Given the description of an element on the screen output the (x, y) to click on. 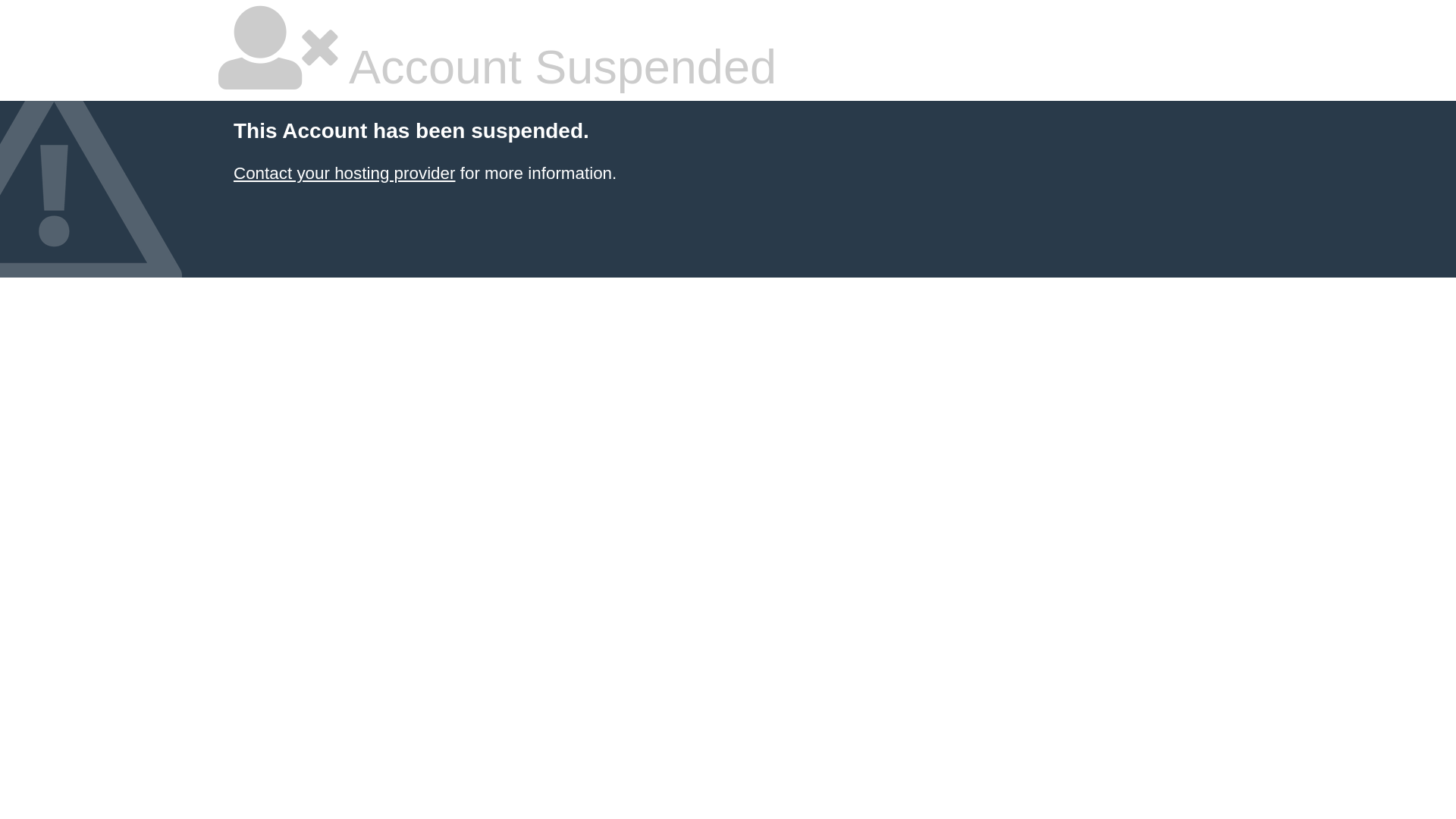
Contact your hosting provider Element type: text (344, 172)
